Given the description of an element on the screen output the (x, y) to click on. 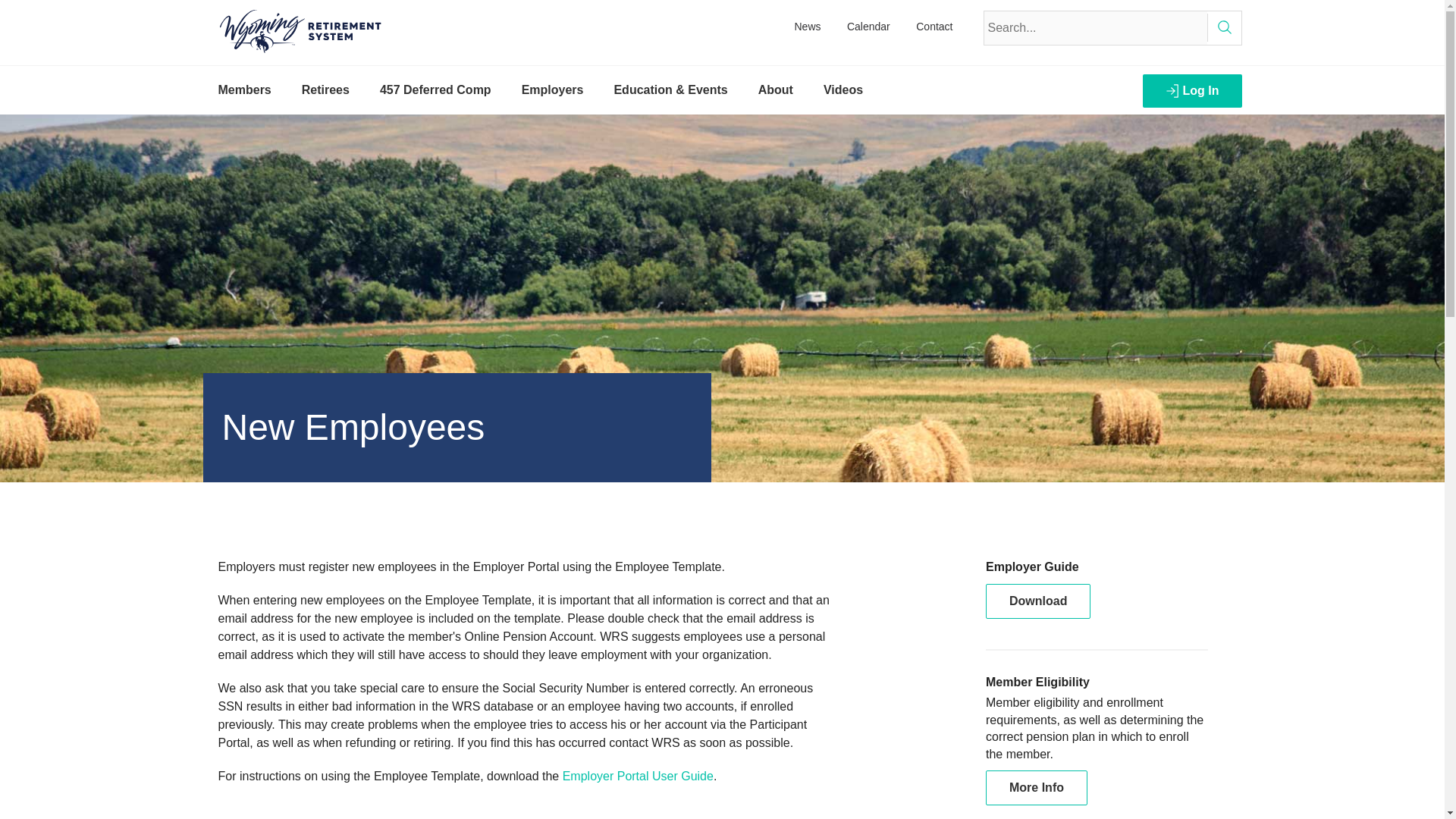
News (807, 26)
Calendar (868, 26)
Members (244, 90)
Contact (933, 26)
